Given the description of an element on the screen output the (x, y) to click on. 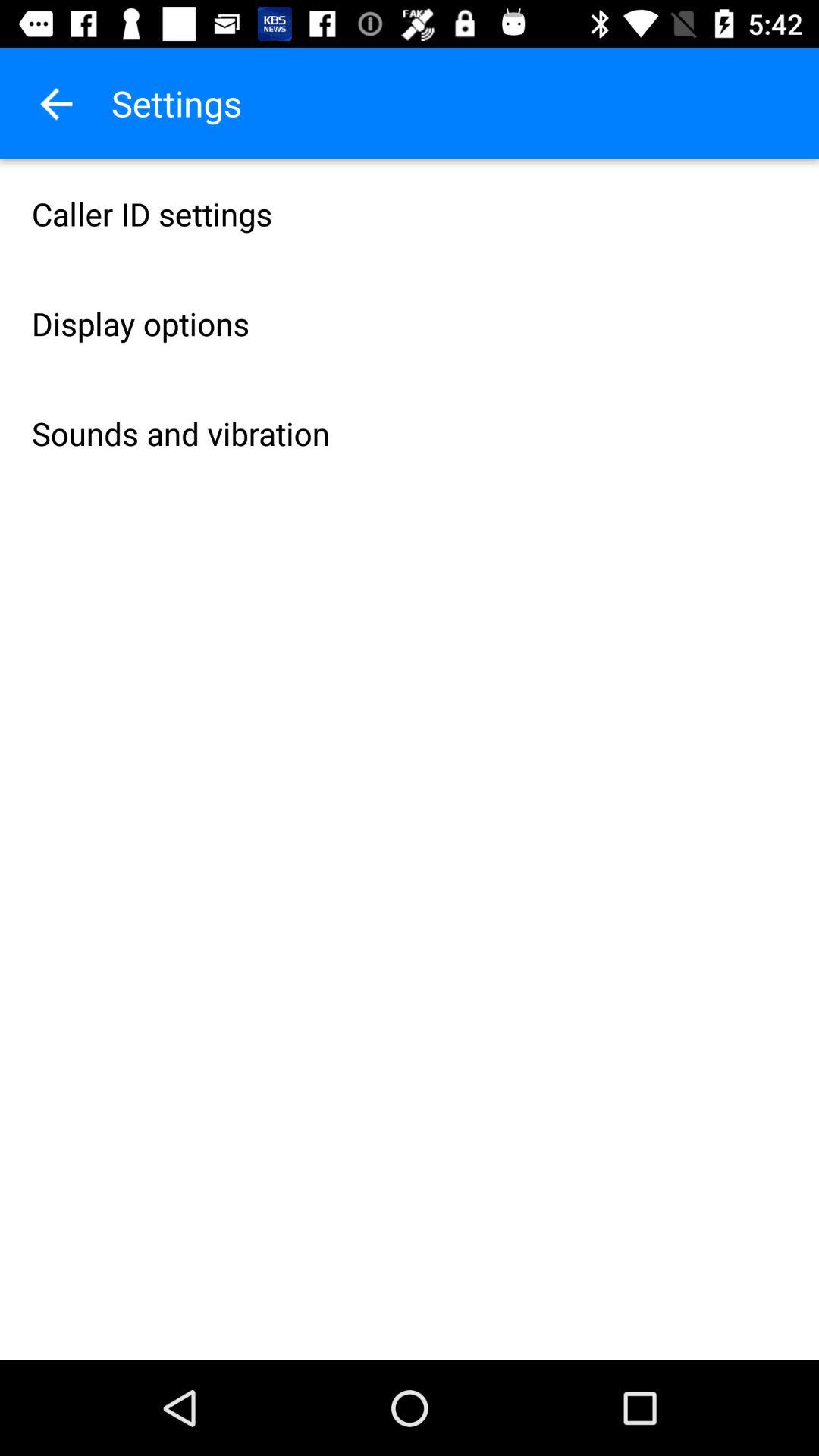
open the caller id settings item (409, 214)
